Given the description of an element on the screen output the (x, y) to click on. 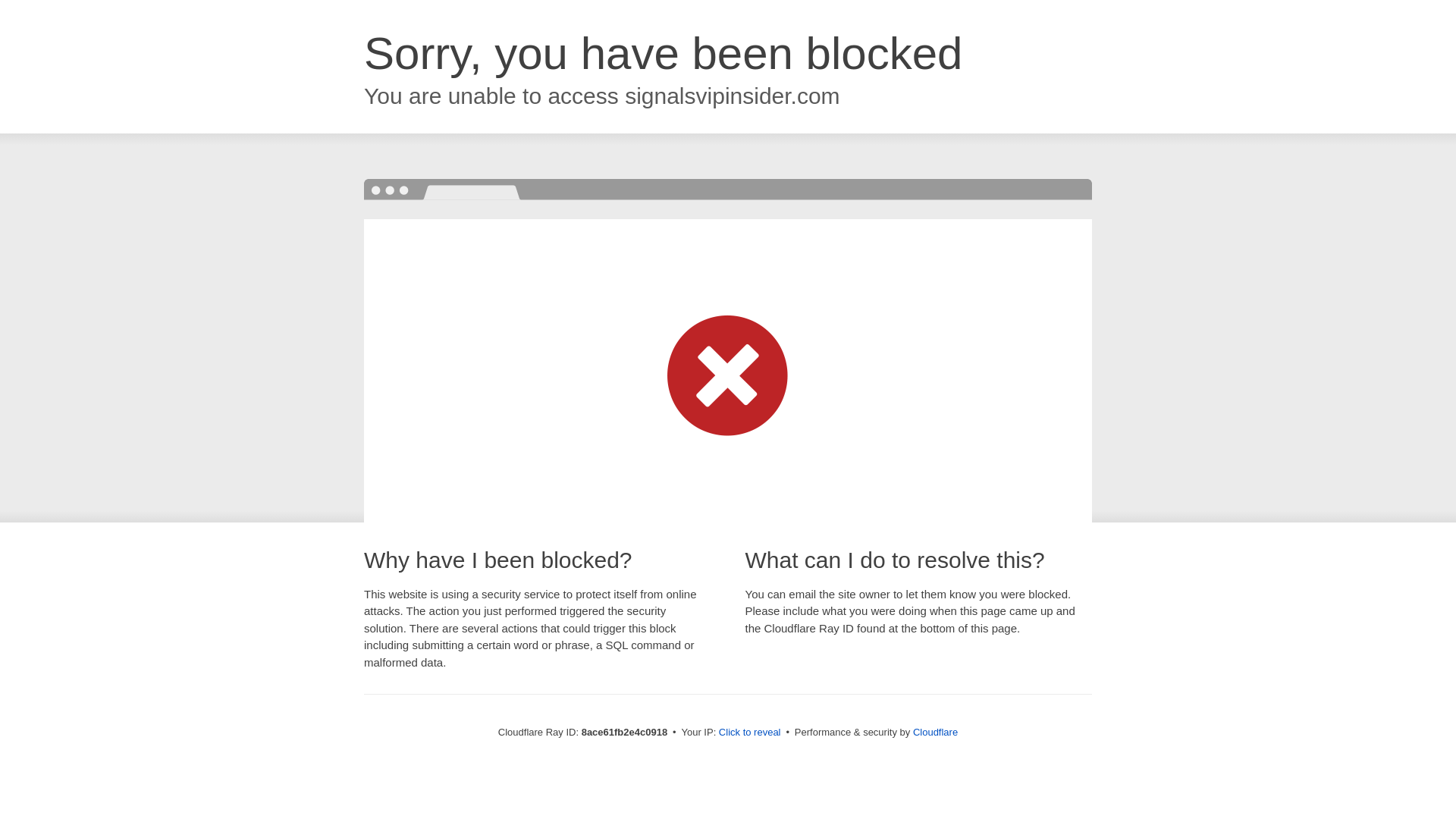
Cloudflare (935, 731)
Click to reveal (749, 732)
